Given the description of an element on the screen output the (x, y) to click on. 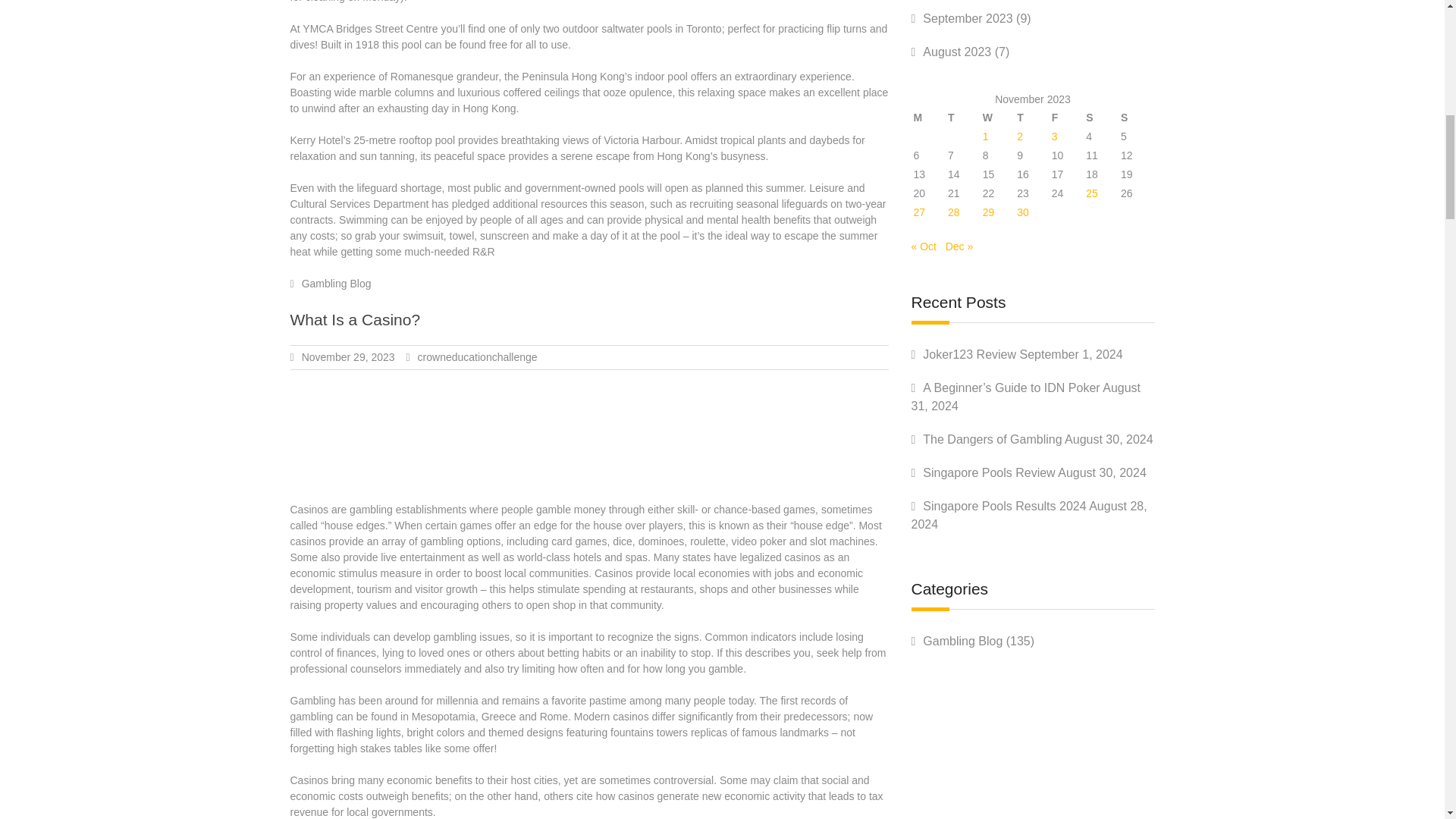
Gambling Blog (336, 283)
crowneducationchallenge (477, 357)
November 29, 2023 (347, 357)
Wednesday (997, 117)
Tuesday (963, 117)
Friday (1067, 117)
Saturday (1101, 117)
Thursday (1032, 117)
Sunday (1136, 117)
What Is a Casino? (354, 319)
